Given the description of an element on the screen output the (x, y) to click on. 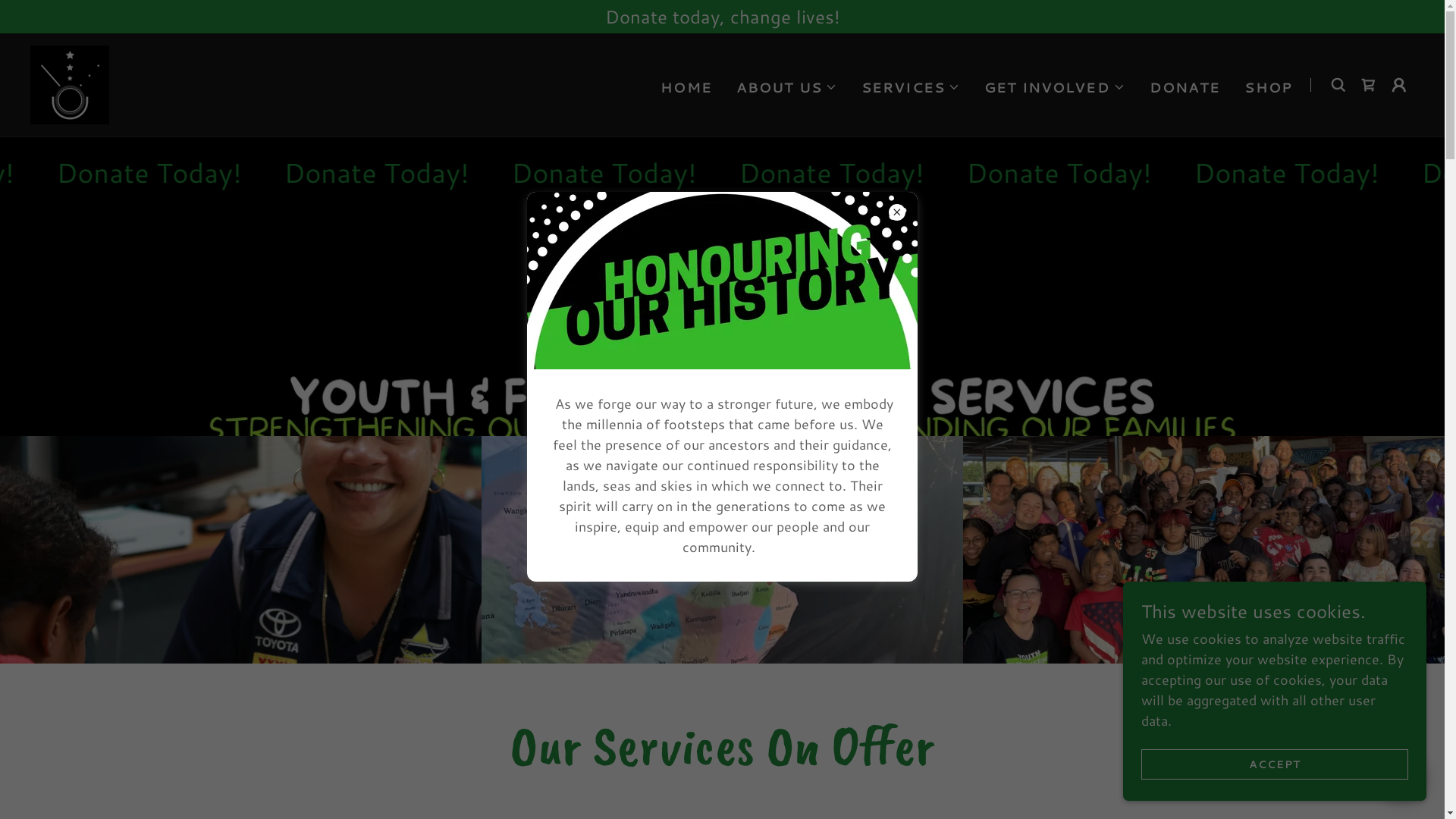
DONATE Element type: text (1185, 86)
SERVICES Element type: text (910, 86)
Donate today, change lives! Element type: text (722, 16)
GET INVOLVED Element type: text (1054, 86)
ABOUT US Element type: text (786, 86)
Deadly Inspiring Youth Doing Good A&TSI Corp Element type: hover (69, 82)
HOME Element type: text (685, 86)
ACCEPT Element type: text (1274, 764)
SHOP Element type: text (1267, 86)
